Given the description of an element on the screen output the (x, y) to click on. 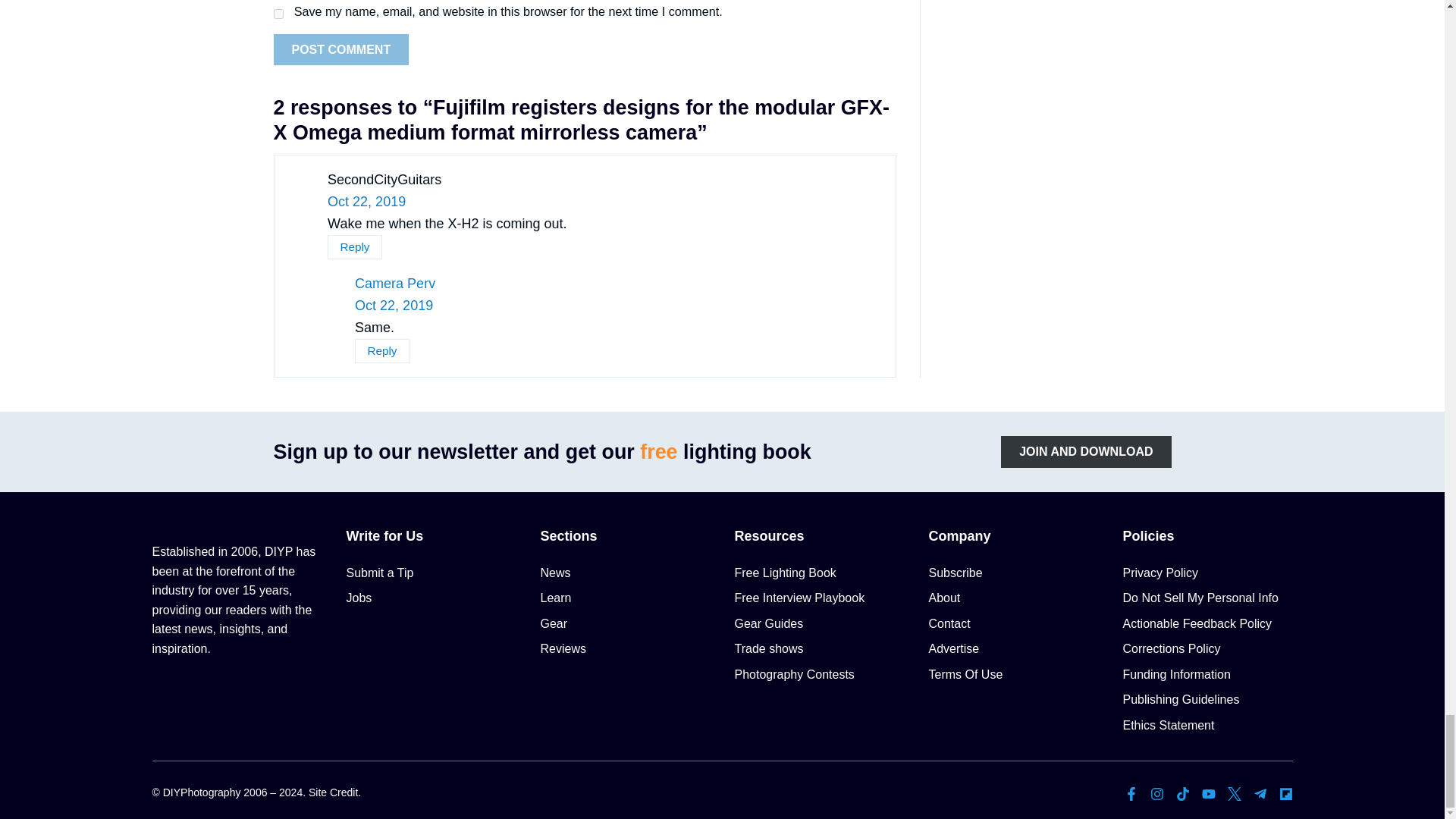
Post Comment (341, 50)
yes (277, 13)
